Given the description of an element on the screen output the (x, y) to click on. 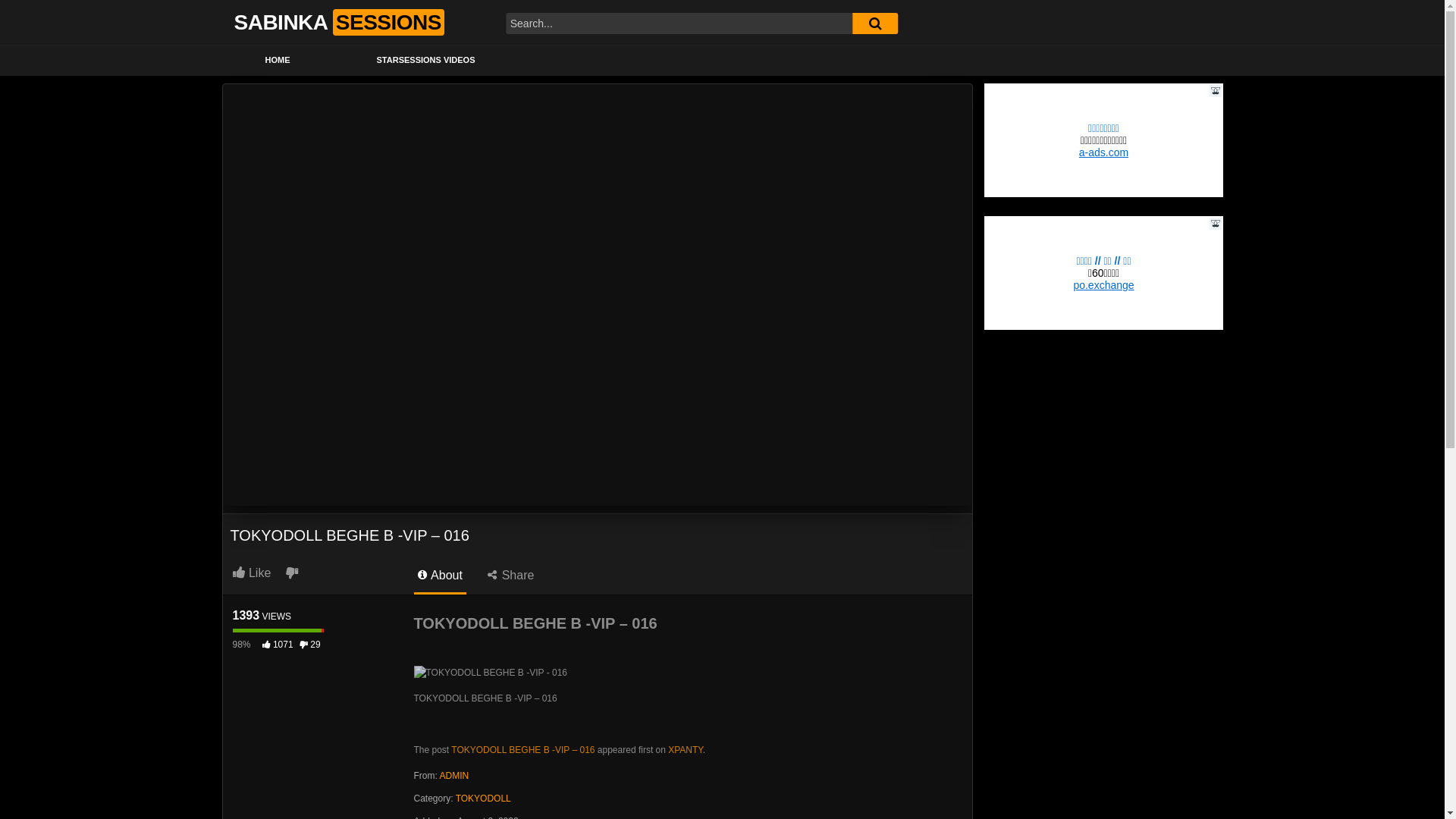
Share Element type: text (510, 579)
ADMIN Element type: text (454, 775)
I dislike this Element type: hover (291, 572)
HOME Element type: text (276, 60)
STARSESSIONS VIDEOS Element type: text (425, 60)
About Element type: text (440, 579)
Like Element type: text (257, 572)
XPANTY Element type: text (685, 749)
TOKYODOLL Element type: text (483, 798)
